Given the description of an element on the screen output the (x, y) to click on. 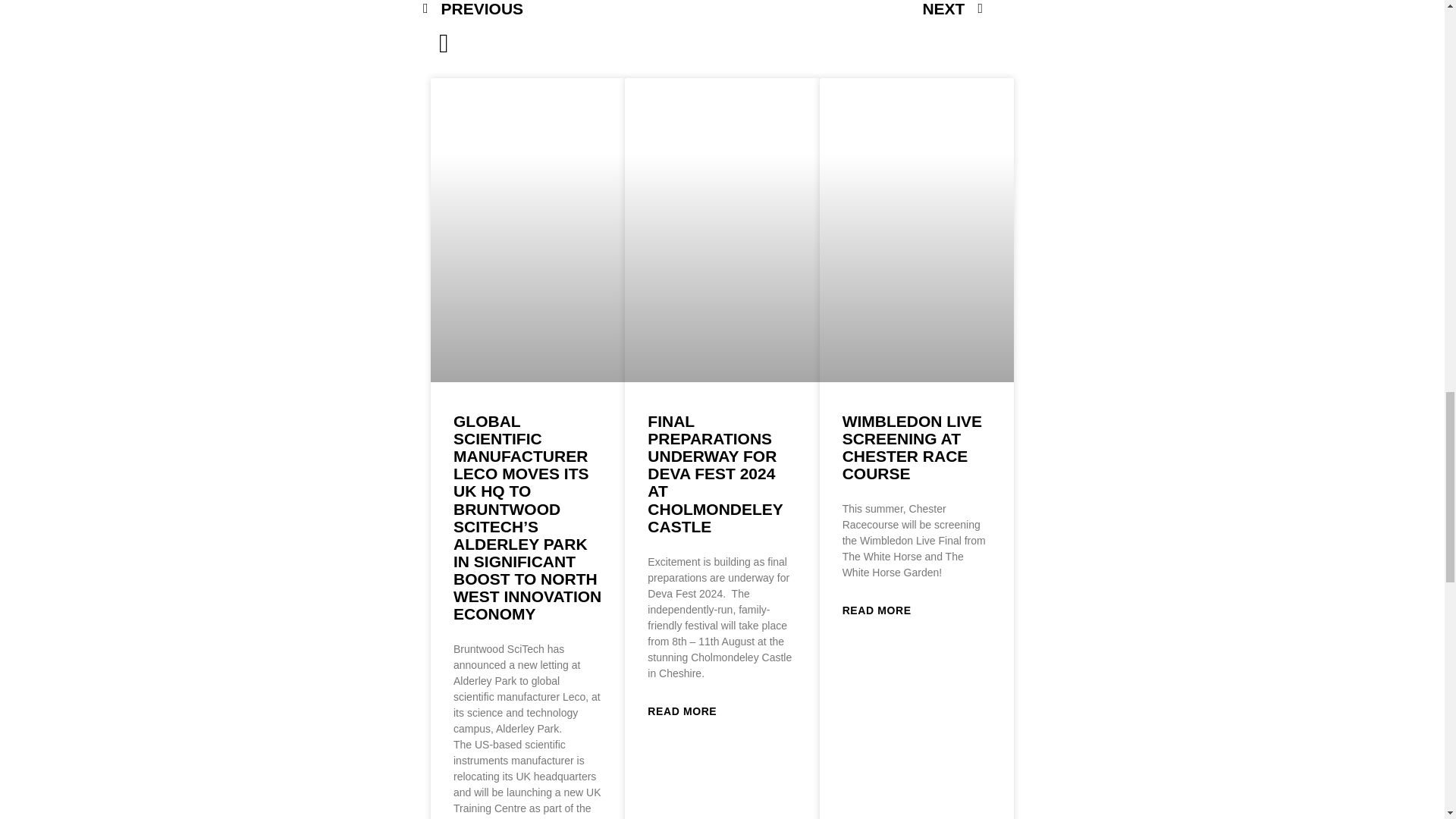
NEXT (842, 11)
PREVIOUS (563, 11)
